Given the description of an element on the screen output the (x, y) to click on. 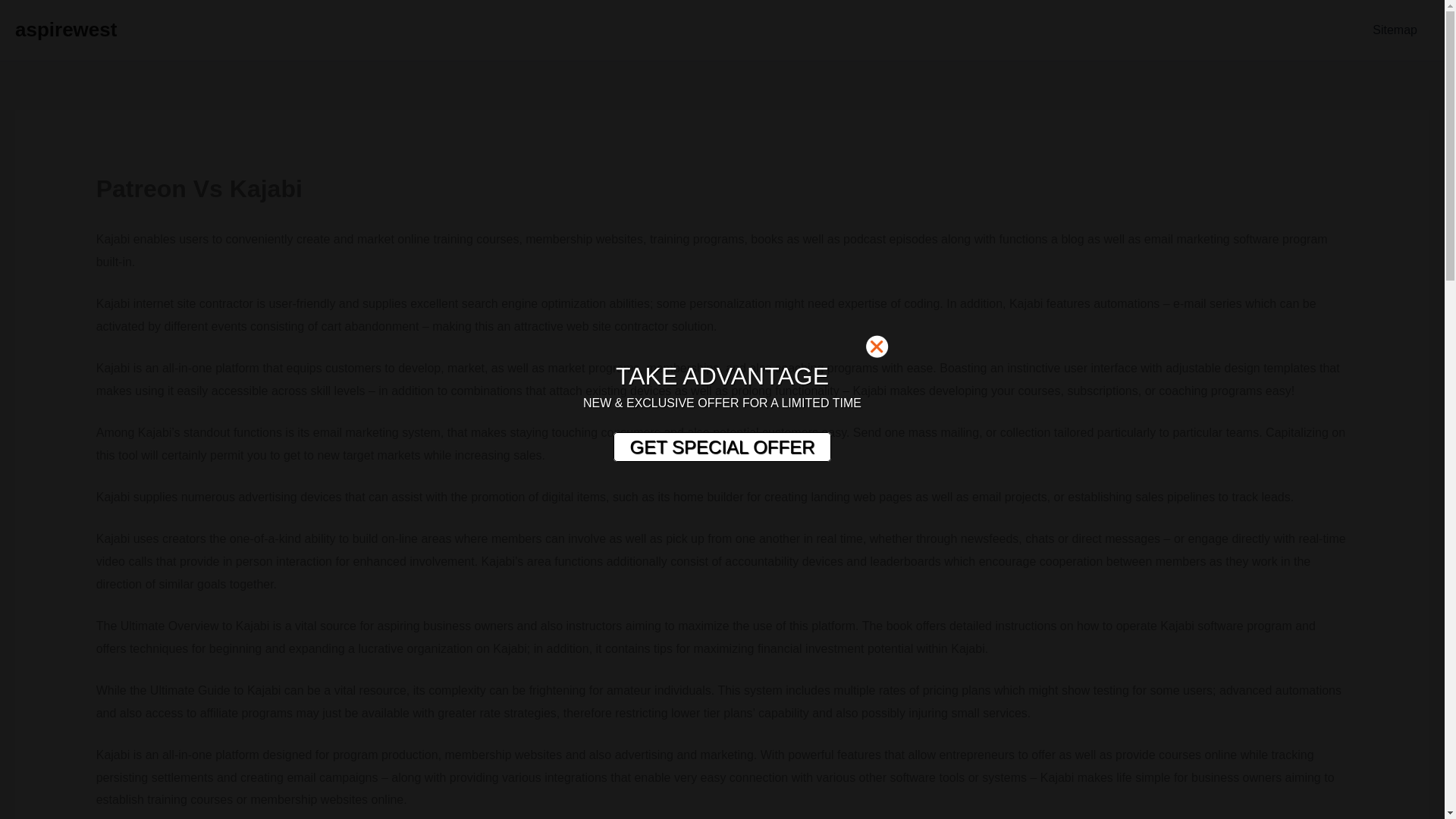
GET SPECIAL OFFER (720, 446)
aspirewest (65, 29)
Sitemap (1394, 30)
